Given the description of an element on the screen output the (x, y) to click on. 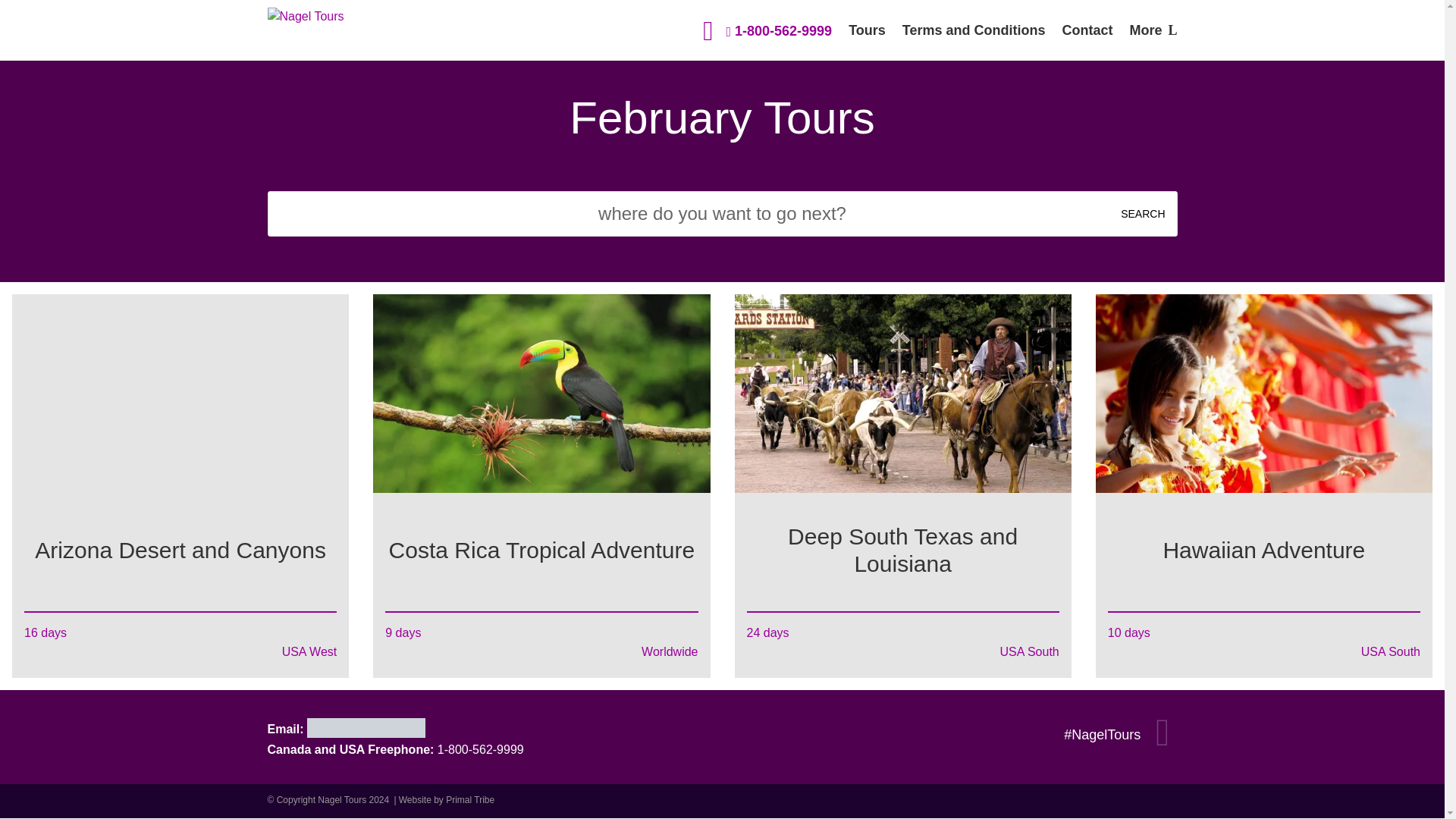
Search (1142, 213)
Search (1142, 213)
Email: (345, 725)
Canada and USA Freephone: 1-800-562-9999 (394, 750)
Terms and Conditions (973, 42)
Contact (1086, 42)
Search (1142, 213)
Tours (866, 42)
Website by Primal Tribe (446, 799)
1-800-562-9999 (780, 31)
